Given the description of an element on the screen output the (x, y) to click on. 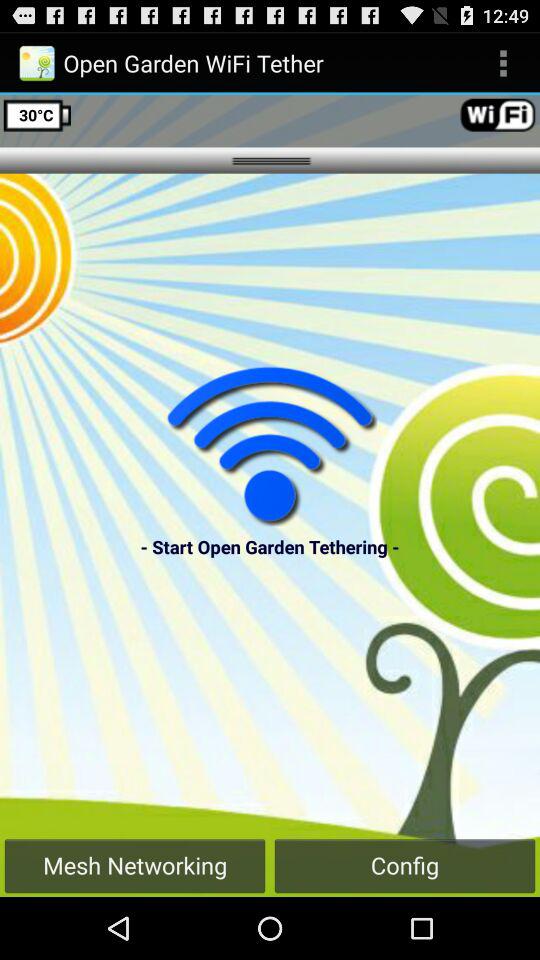
start item (269, 445)
